Given the description of an element on the screen output the (x, y) to click on. 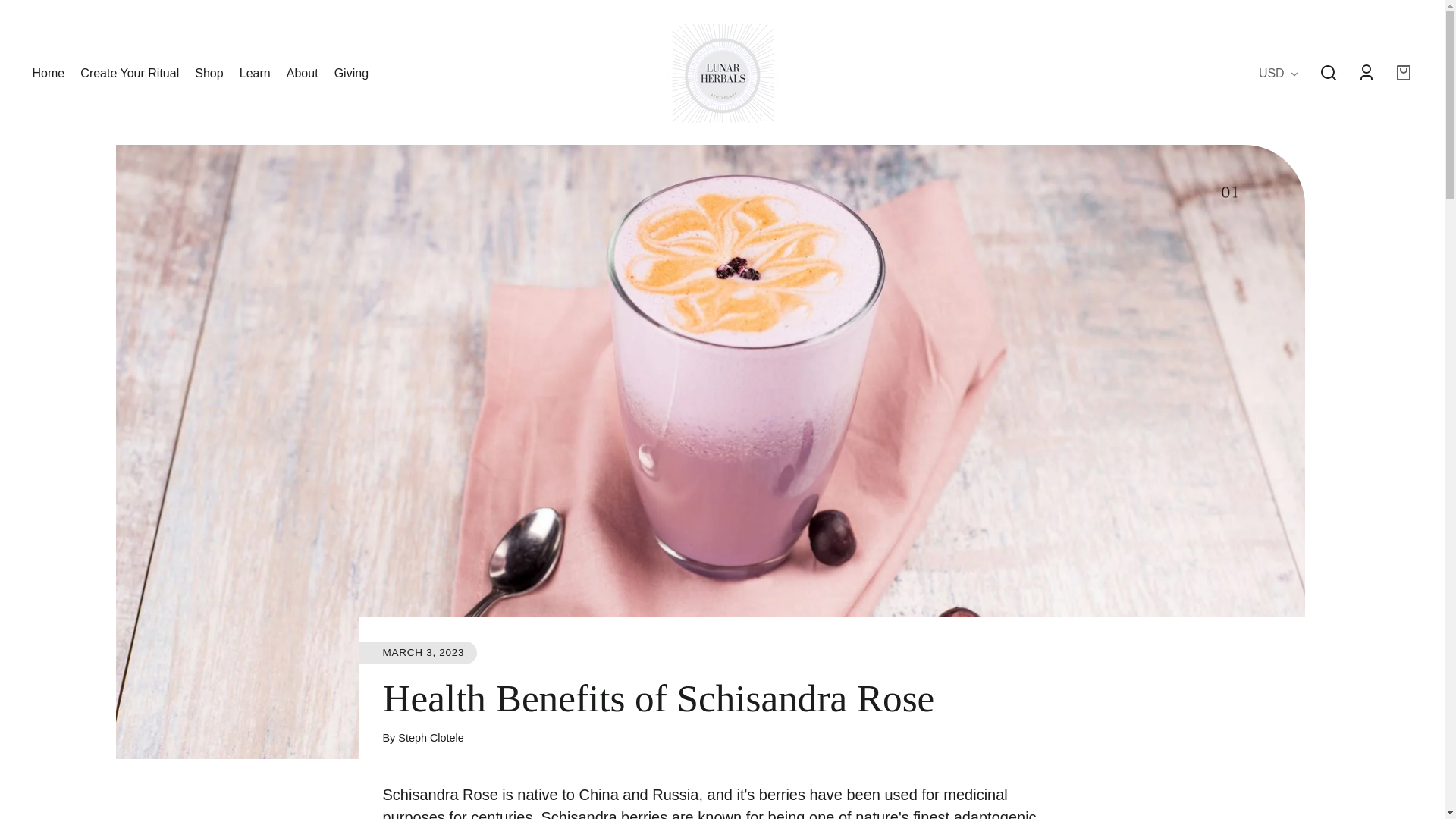
Skip to content (25, 16)
Create Your Ritual (129, 73)
Giving (351, 73)
About (302, 73)
Home (48, 73)
USD (1279, 73)
Shop (208, 73)
Learn (255, 73)
